Given the description of an element on the screen output the (x, y) to click on. 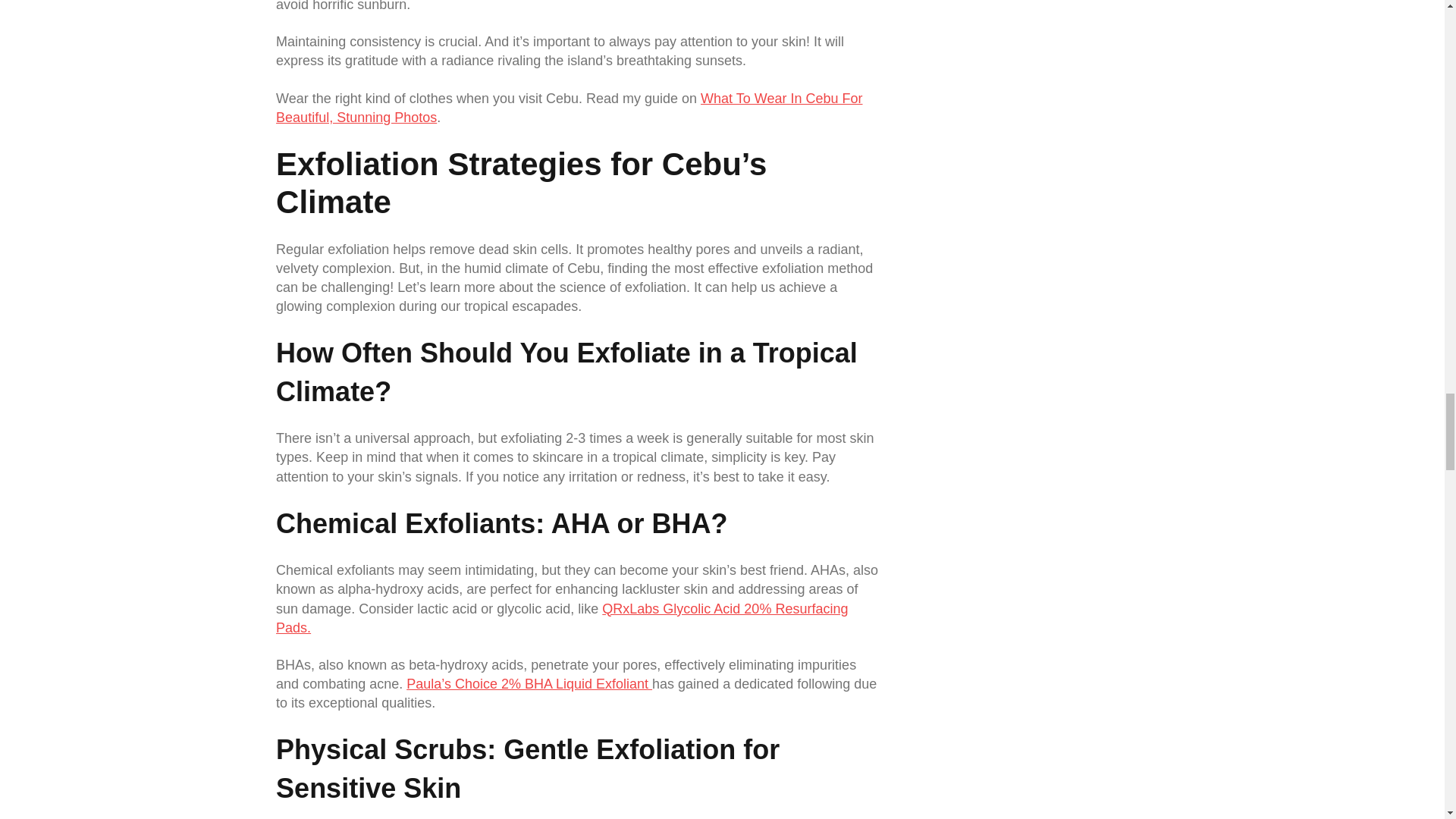
What To Wear In Cebu For Beautiful, Stunning Photos (568, 107)
